Given the description of an element on the screen output the (x, y) to click on. 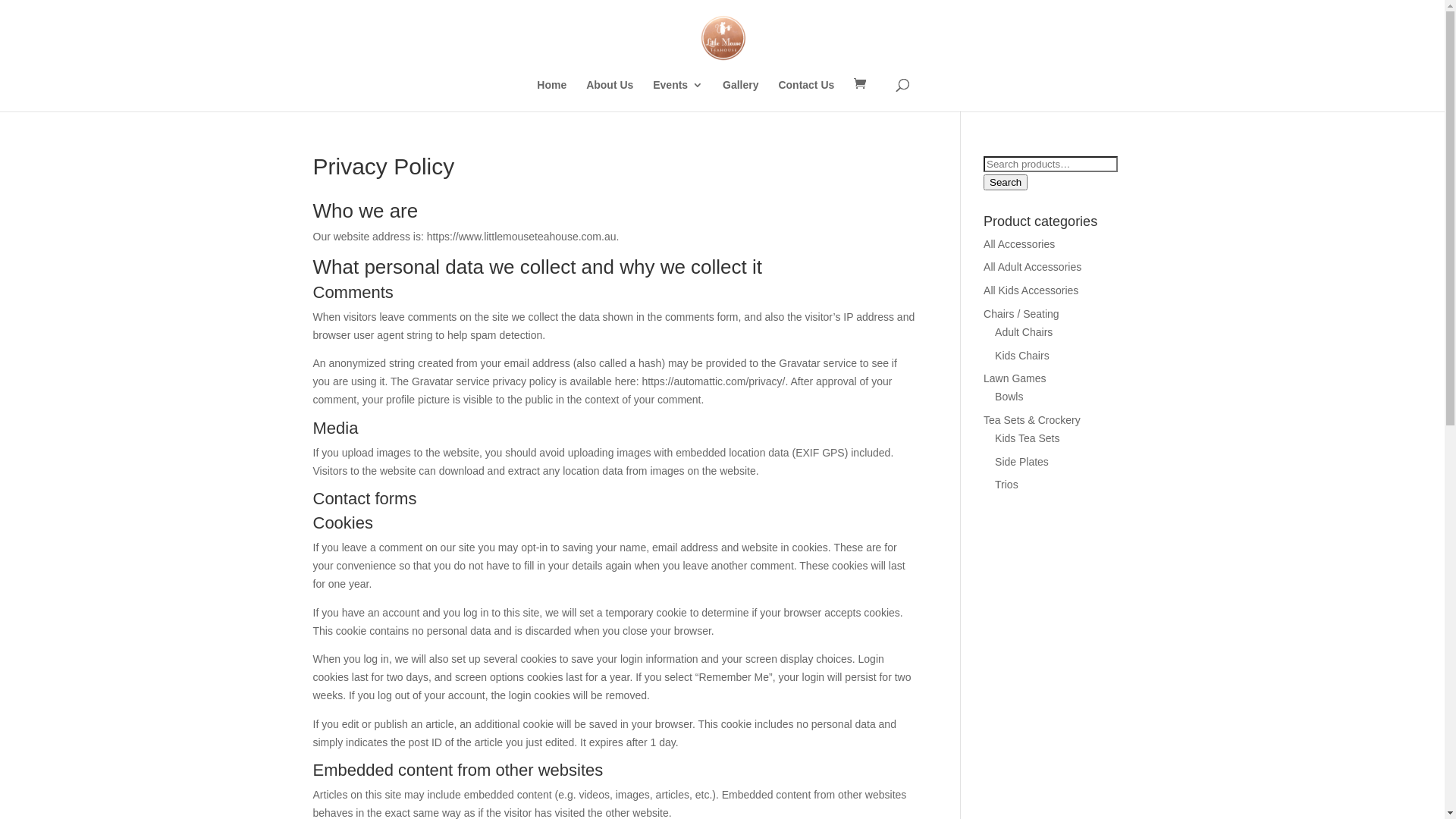
Gallery Element type: text (740, 95)
Side Plates Element type: text (1021, 461)
Kids Chairs Element type: text (1021, 355)
Home Element type: text (551, 95)
Events Element type: text (677, 95)
About Us Element type: text (609, 95)
Chairs / Seating Element type: text (1021, 313)
Bowls Element type: text (1008, 396)
Trios Element type: text (1006, 484)
Contact Us Element type: text (806, 95)
Lawn Games Element type: text (1014, 378)
All Adult Accessories Element type: text (1032, 266)
All Kids Accessories Element type: text (1030, 290)
All Accessories Element type: text (1018, 244)
Tea Sets & Crockery Element type: text (1031, 420)
Adult Chairs Element type: text (1023, 332)
Search Element type: text (1005, 182)
Kids Tea Sets Element type: text (1026, 438)
